Given the description of an element on the screen output the (x, y) to click on. 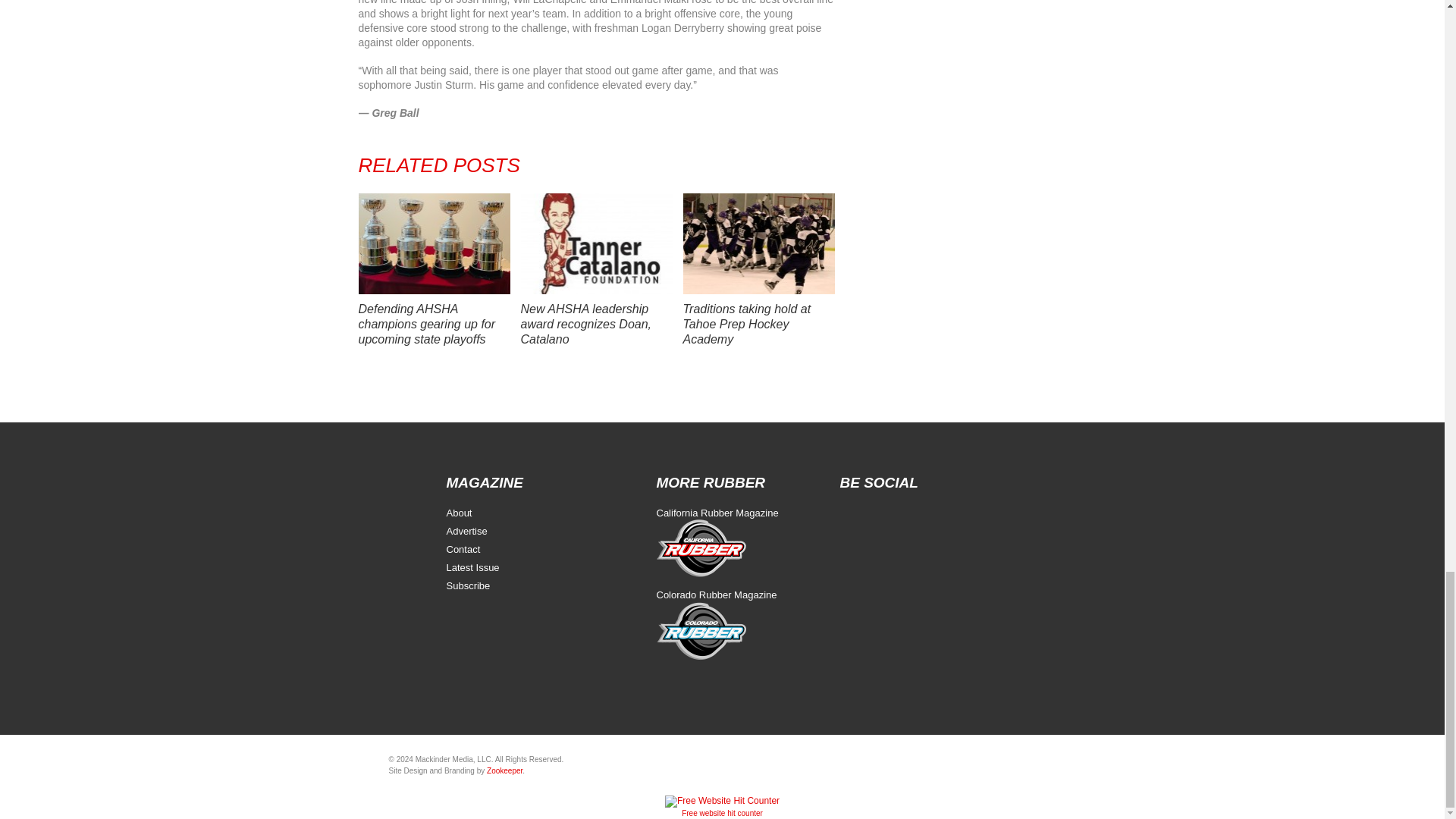
Free Website Hit Counter (721, 813)
New AHSHA leadership award recognizes Doan, Catalano (584, 323)
Zookeeper (504, 770)
